Given the description of an element on the screen output the (x, y) to click on. 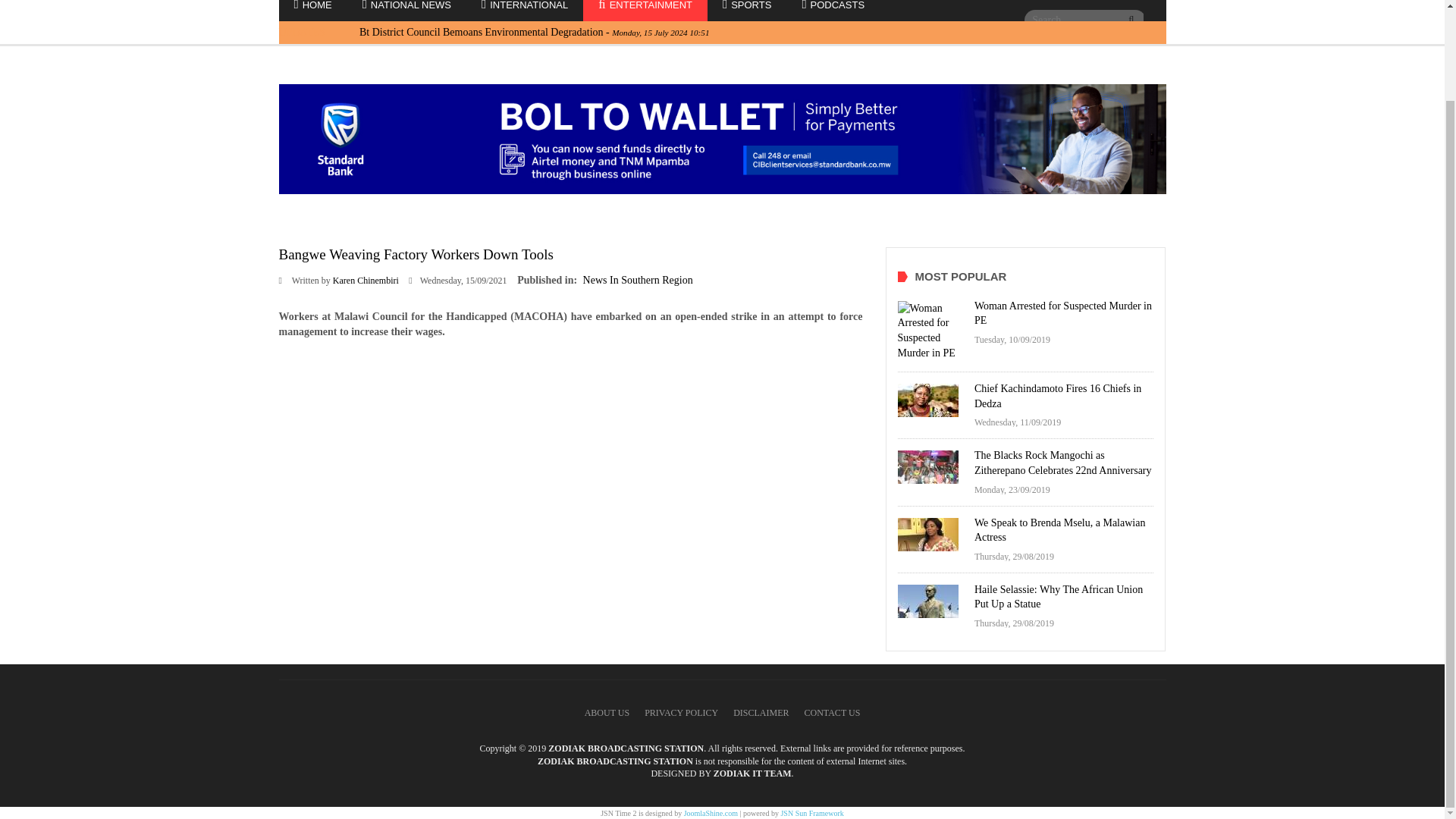
Bangwe Weaving Factory Workers Down Tools (416, 254)
Continue reading "Woman Arrested for Suspected Murder in PE" (932, 330)
ABOUT US (606, 713)
Go (1130, 19)
Woman Arrested for Suspected Murder in PE (1062, 313)
HOME (313, 11)
PRIVACY POLICY (681, 713)
SPORTS (746, 11)
NATIONAL NEWS (406, 11)
Haile Selassie: Why The African Union Put Up a Statue (1058, 596)
Standard Bank - BOL to Wallet (722, 139)
JSN Sun Framework is the best Joomla template framework (811, 813)
News In Southern Region (638, 279)
